Given the description of an element on the screen output the (x, y) to click on. 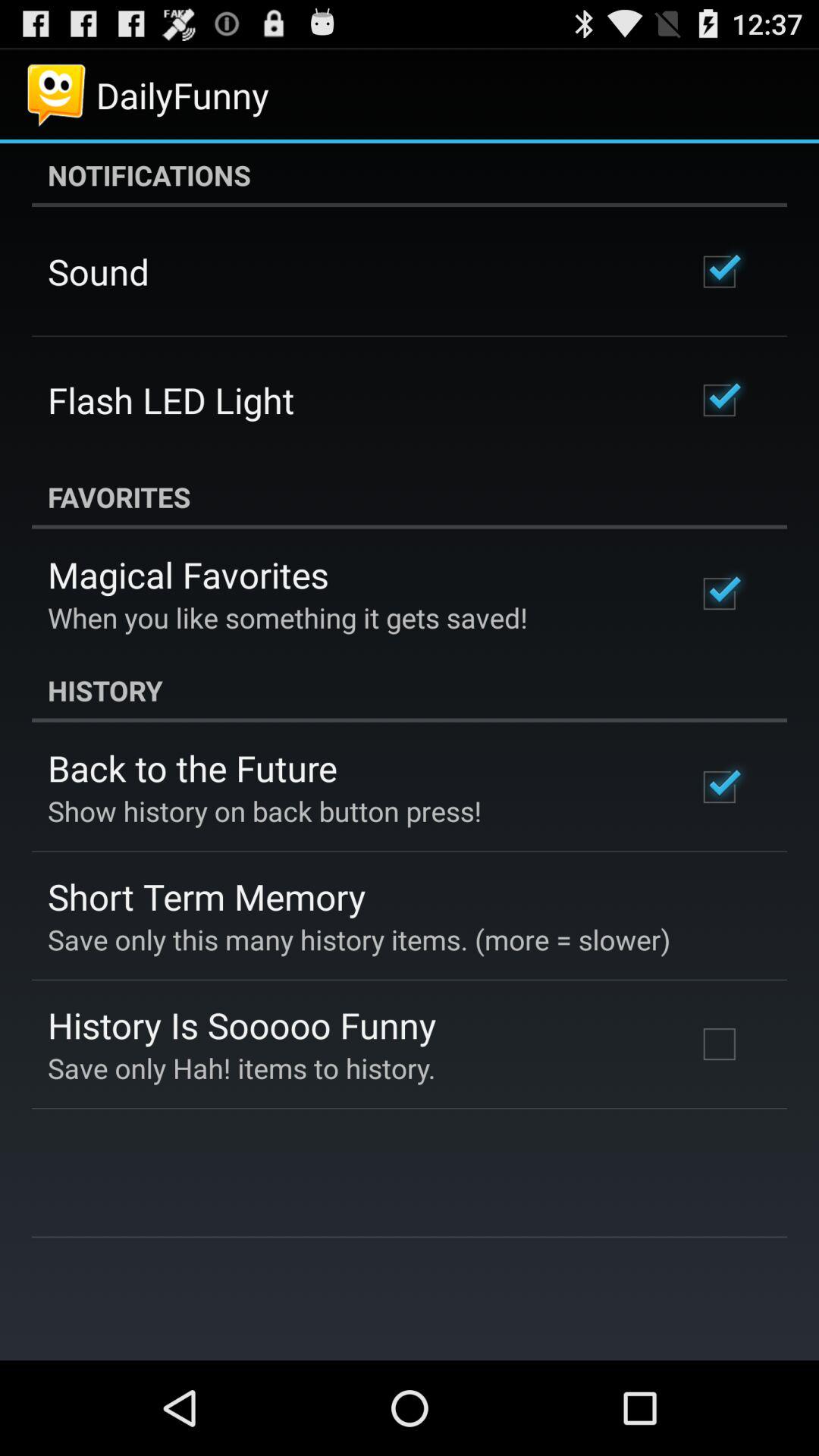
select magical favorites app (187, 574)
